Given the description of an element on the screen output the (x, y) to click on. 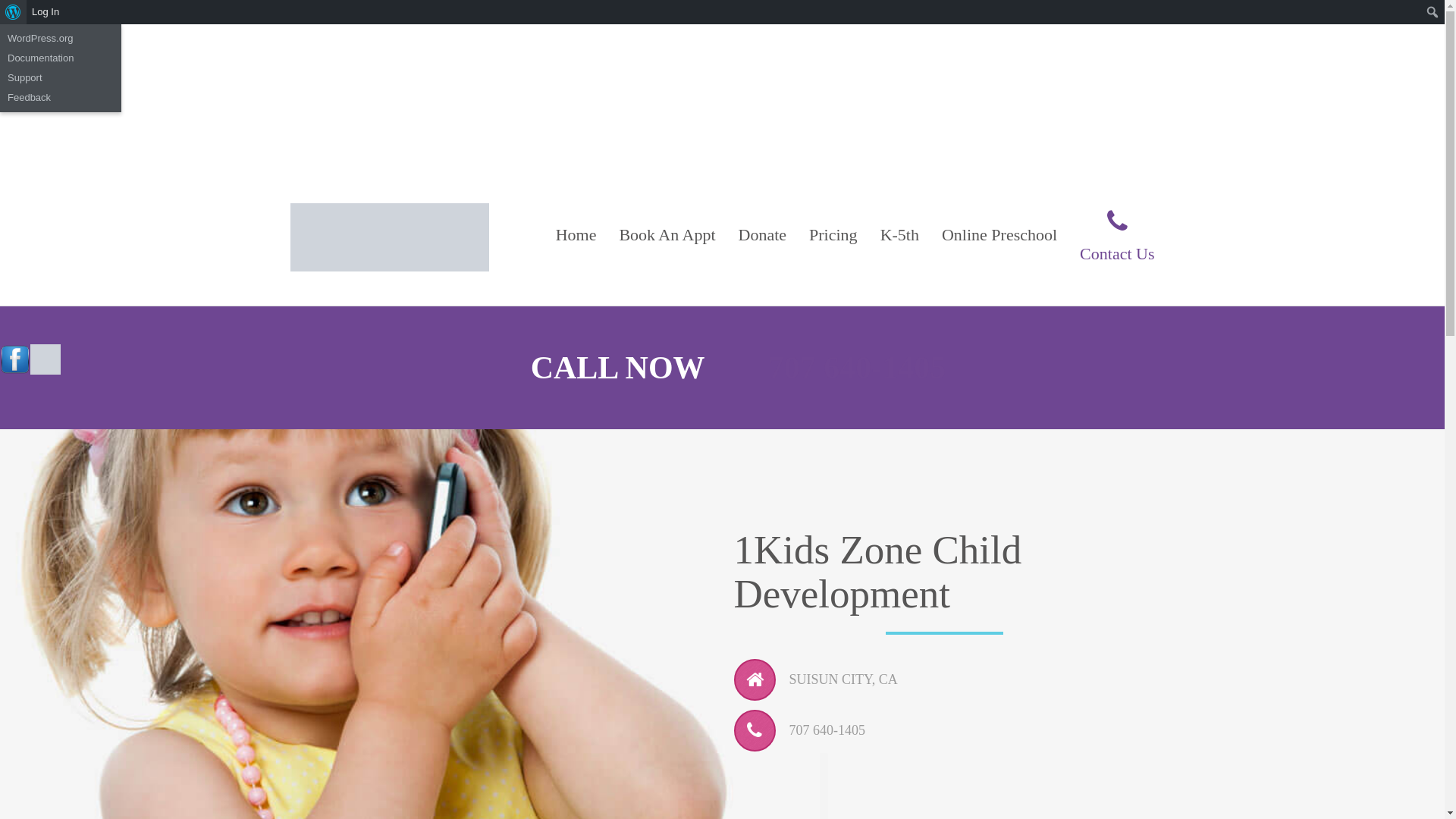
Home Element type: text (576, 234)
Feedback Element type: text (60, 97)
Online Preschool Element type: text (999, 234)
Book An Appt Element type: text (666, 234)
K-5th Element type: text (899, 234)
Donate Element type: text (762, 234)
Contact Us Element type: text (1111, 232)
Support Element type: text (60, 77)
Documentation Element type: text (60, 58)
WordPress.org Element type: text (60, 38)
Pricing Element type: text (833, 234)
Log In Element type: text (45, 12)
707 640-1405 Element type: text (857, 367)
Search Element type: text (17, 13)
